Given the description of an element on the screen output the (x, y) to click on. 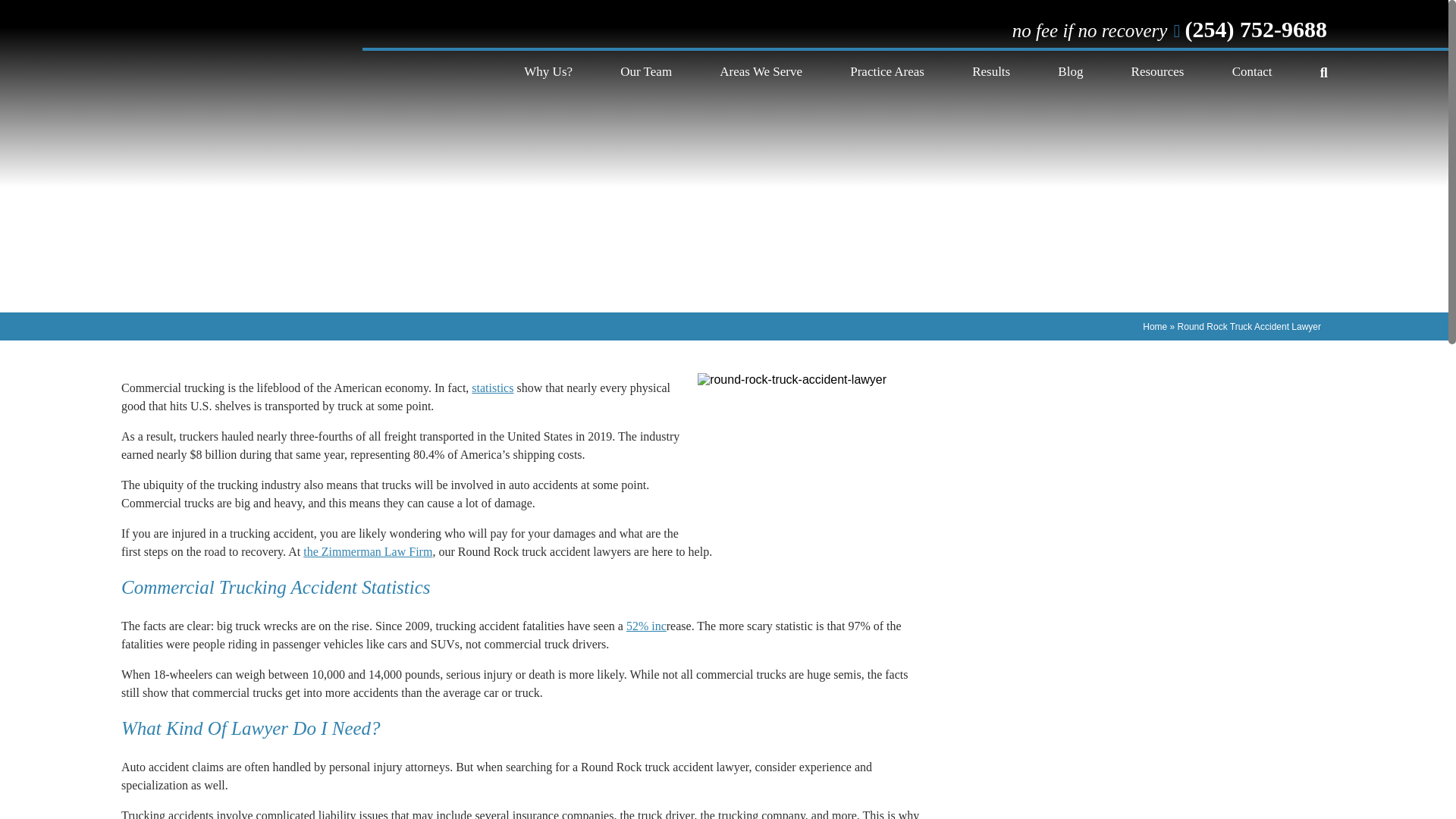
Areas We Serve (760, 71)
Our Team (645, 71)
Practice Areas (887, 71)
Why Us? (548, 71)
